Given the description of an element on the screen output the (x, y) to click on. 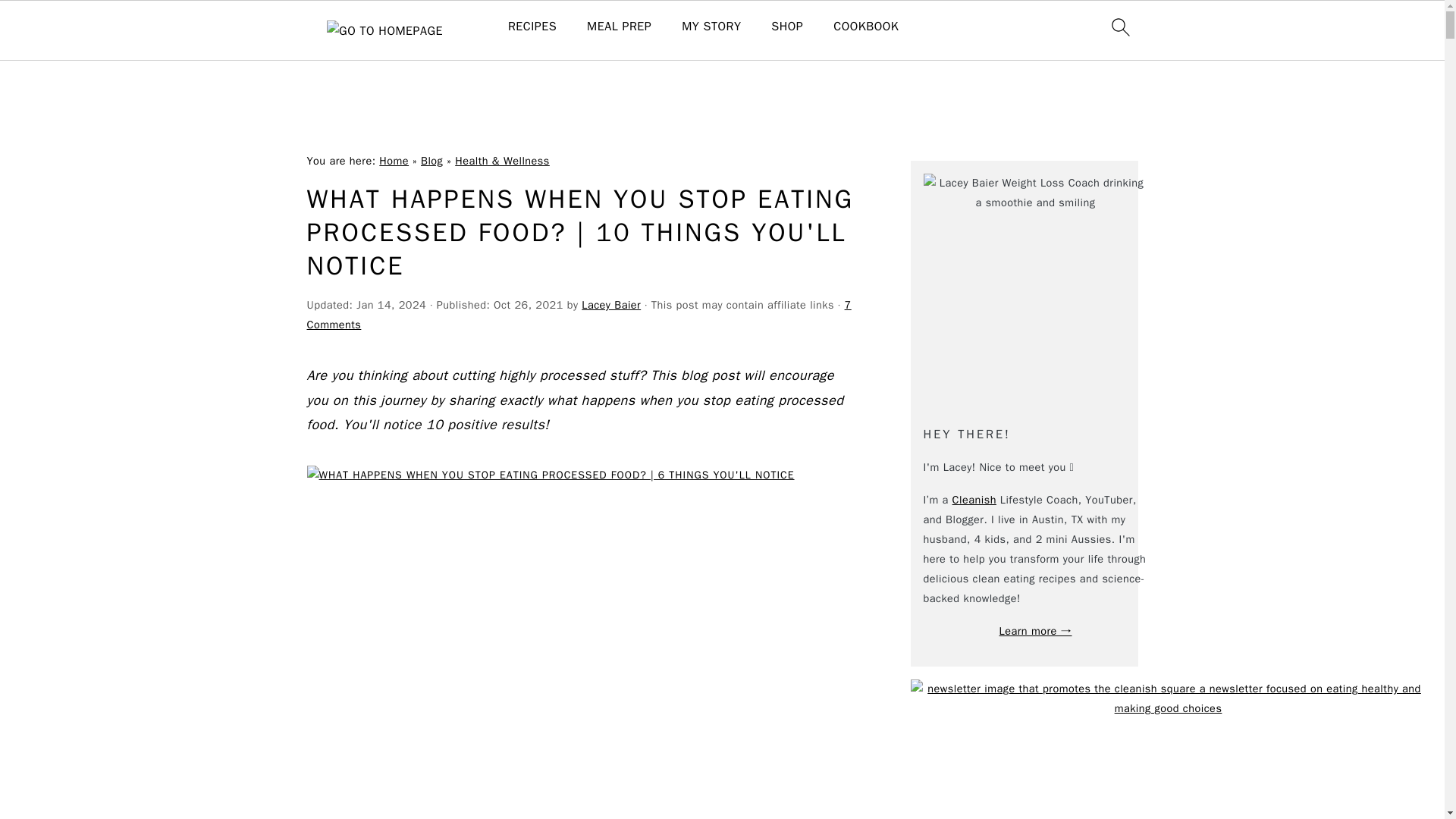
COOKBOOK (865, 27)
7 Comments (577, 314)
SEARCH ICON (1119, 26)
MY STORY (711, 27)
RECIPES (532, 27)
MEAL PREP (618, 27)
Home (393, 160)
Blog (431, 160)
author-square (1035, 285)
